Given the description of an element on the screen output the (x, y) to click on. 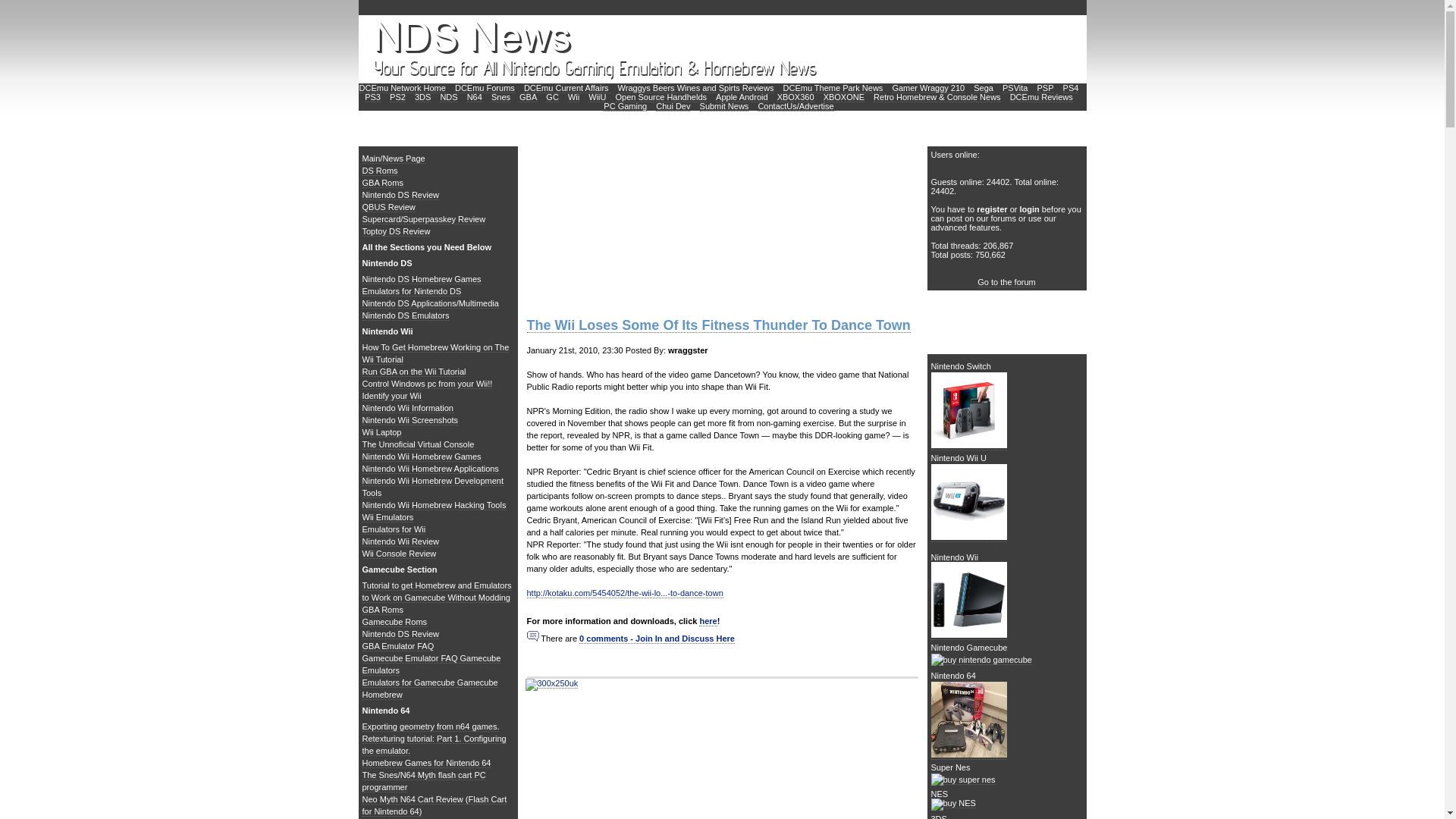
GC (552, 97)
PS4 (1070, 88)
Open Source Handhelds (660, 97)
Nintendo DS Review (400, 194)
PS2 (398, 97)
PSP (1045, 88)
XBOXONE (844, 97)
Chui Dev (673, 106)
QBUS Review (388, 207)
XBOX360 (795, 97)
PS3 (372, 97)
Submit News (724, 106)
Emulators for Nintendo DS (411, 291)
3DS (422, 97)
WiiU (596, 97)
